Given the description of an element on the screen output the (x, y) to click on. 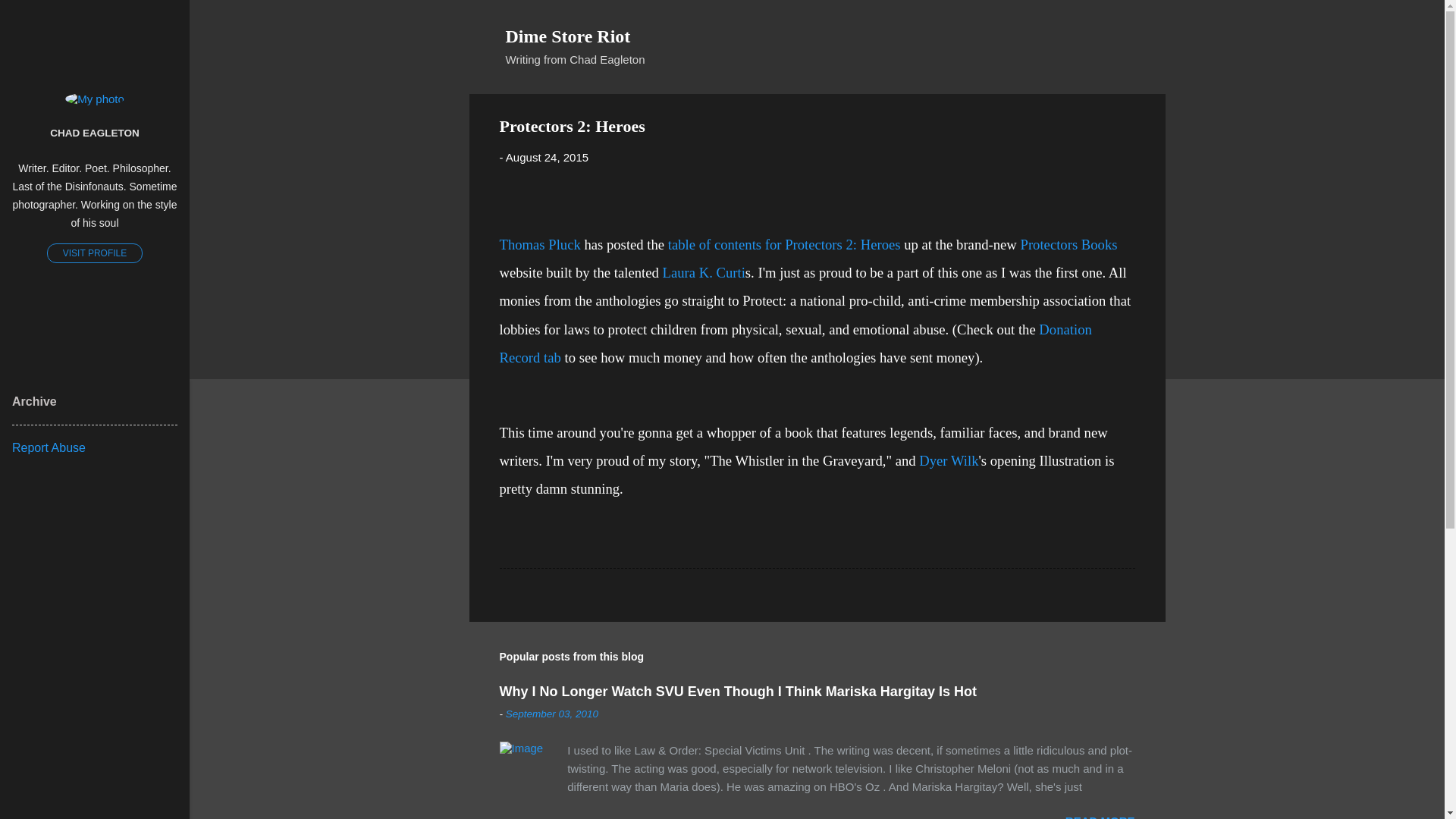
September 03, 2010 (551, 713)
Protectors Books (1069, 244)
Search (29, 18)
permanent link (551, 713)
Thomas Pluck (539, 244)
table of contents for Protectors 2: Heroes (784, 244)
August 24, 2015 (546, 156)
Dyer Wilk (948, 460)
VISIT PROFILE (94, 252)
Dime Store Riot (567, 35)
CHAD EAGLETON (94, 132)
permanent link (546, 156)
Laura K. Curti (703, 272)
Donation Record tab (794, 343)
